Given the description of an element on the screen output the (x, y) to click on. 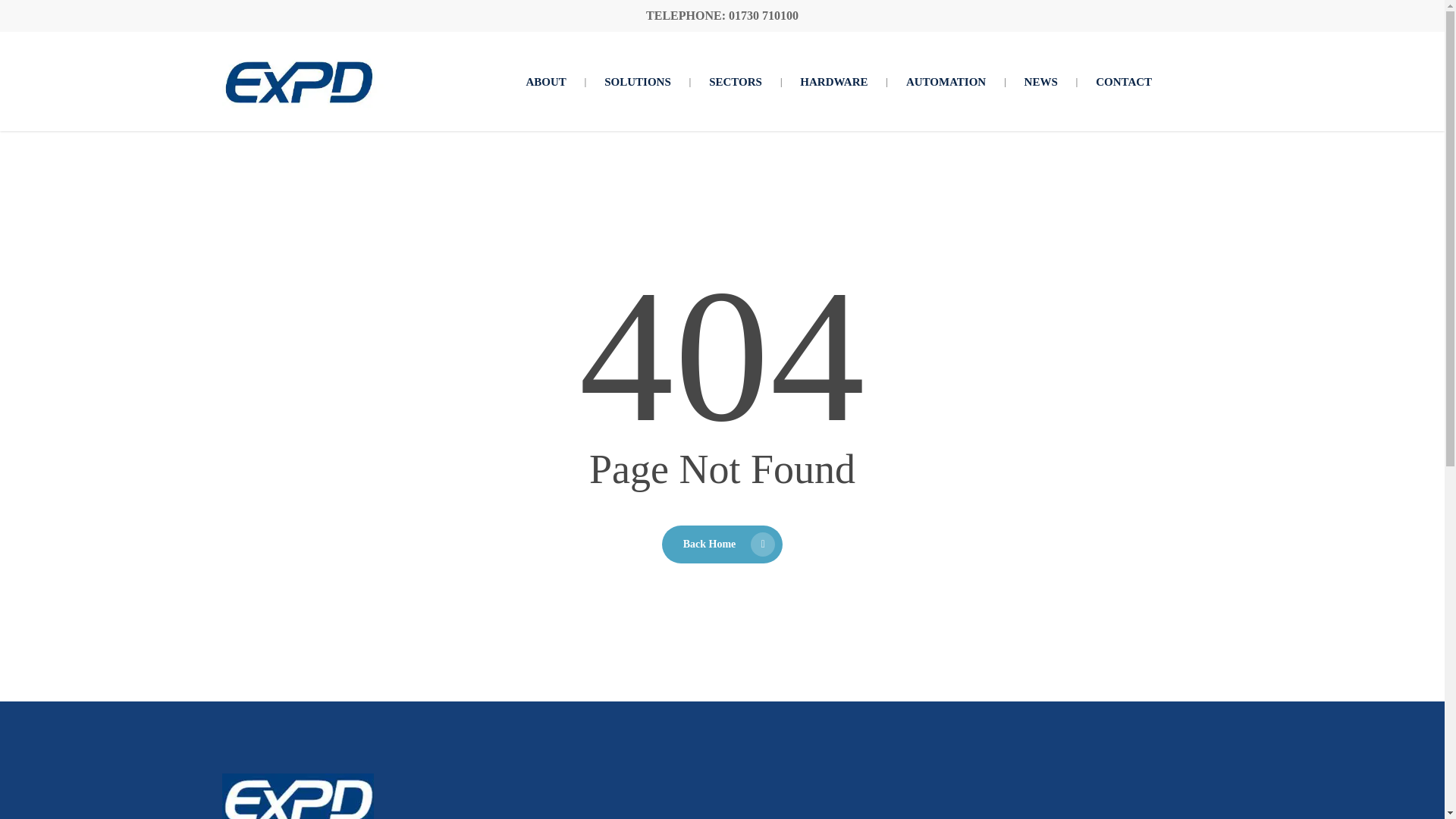
SOLUTIONS (637, 81)
NEWS (1040, 81)
AUTOMATION (946, 81)
ABOUT (544, 81)
CONTACT (1123, 81)
HARDWARE (833, 81)
Back Home (722, 544)
SECTORS (735, 81)
TELEPHONE: 01730 710100 (721, 15)
